Given the description of an element on the screen output the (x, y) to click on. 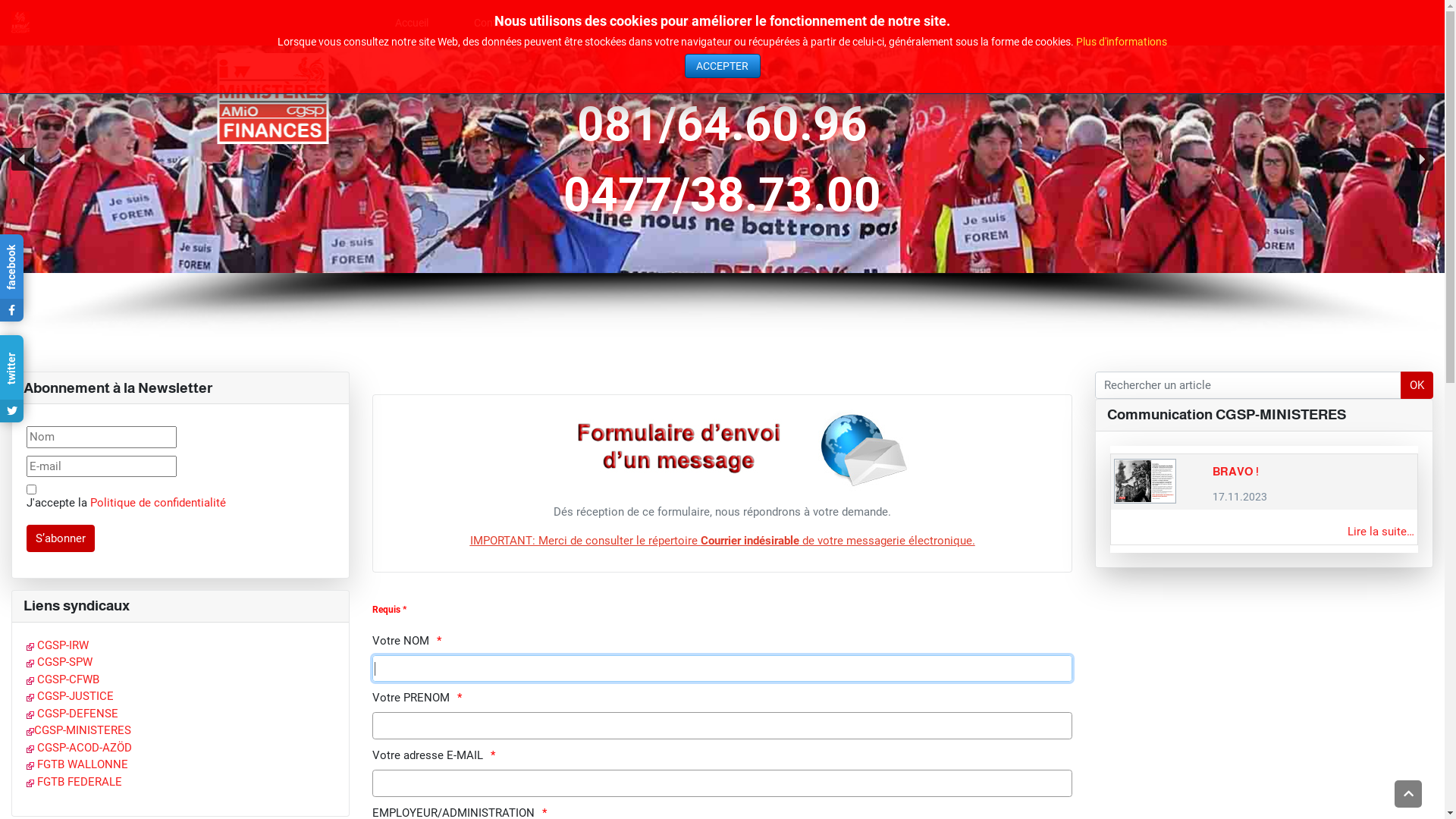
OK Element type: text (1416, 384)
Termes et conditions Element type: hover (31, 489)
Plus d'informations Element type: text (1121, 41)
BRAVO ! Element type: text (1235, 471)
 FGTB WALLONNE Element type: text (77, 764)
Login Element type: text (900, 22)
 CGSP-SPW Element type: text (59, 661)
 CGSP-IRW Element type: text (57, 645)
Accueil Element type: text (411, 22)
CGSP-MINISTERES Element type: text (78, 730)
 CGSP-JUSTICE Element type: text (69, 695)
Affiliation Element type: text (602, 22)
 FGTB FEDERALE Element type: text (74, 781)
 CGSP-DEFENSE Element type: text (72, 713)
Nos actions Element type: text (705, 22)
Contact Element type: text (500, 22)
Archives Element type: text (806, 22)
 CGSP-CFWB Element type: text (62, 679)
